Given the description of an element on the screen output the (x, y) to click on. 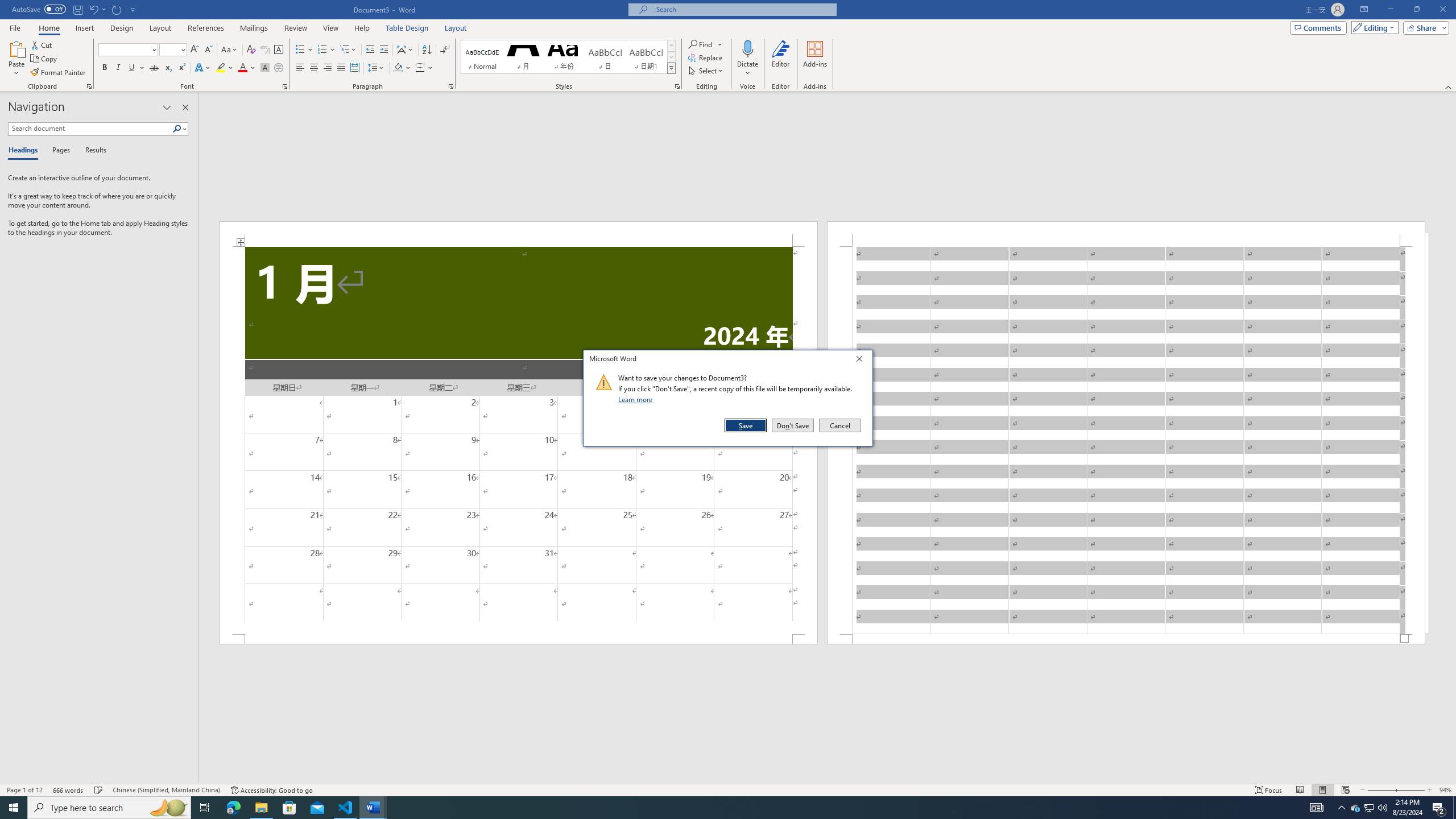
Row up (670, 45)
Sort... (426, 49)
Italic (118, 67)
Design (122, 28)
AutoSave (38, 9)
View (330, 28)
Notification Chevron (1341, 807)
AutomationID: 4105 (1316, 807)
Don't Save (792, 425)
Results (91, 150)
Strikethrough (154, 67)
Change Case (229, 49)
Superscript (180, 67)
Header -Section 1- (1126, 233)
